Given the description of an element on the screen output the (x, y) to click on. 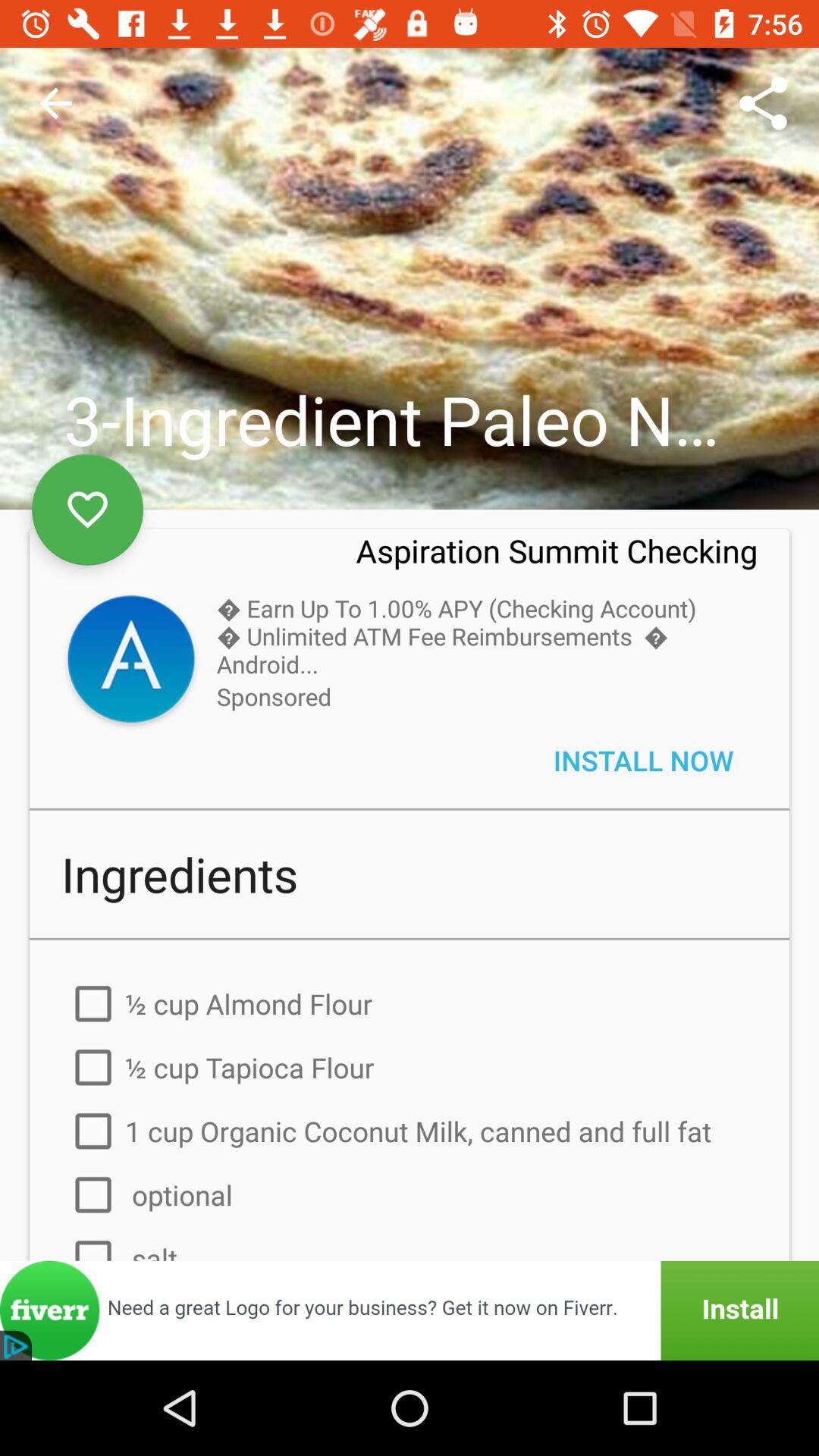
advertisement install fiverr app (409, 1310)
